Given the description of an element on the screen output the (x, y) to click on. 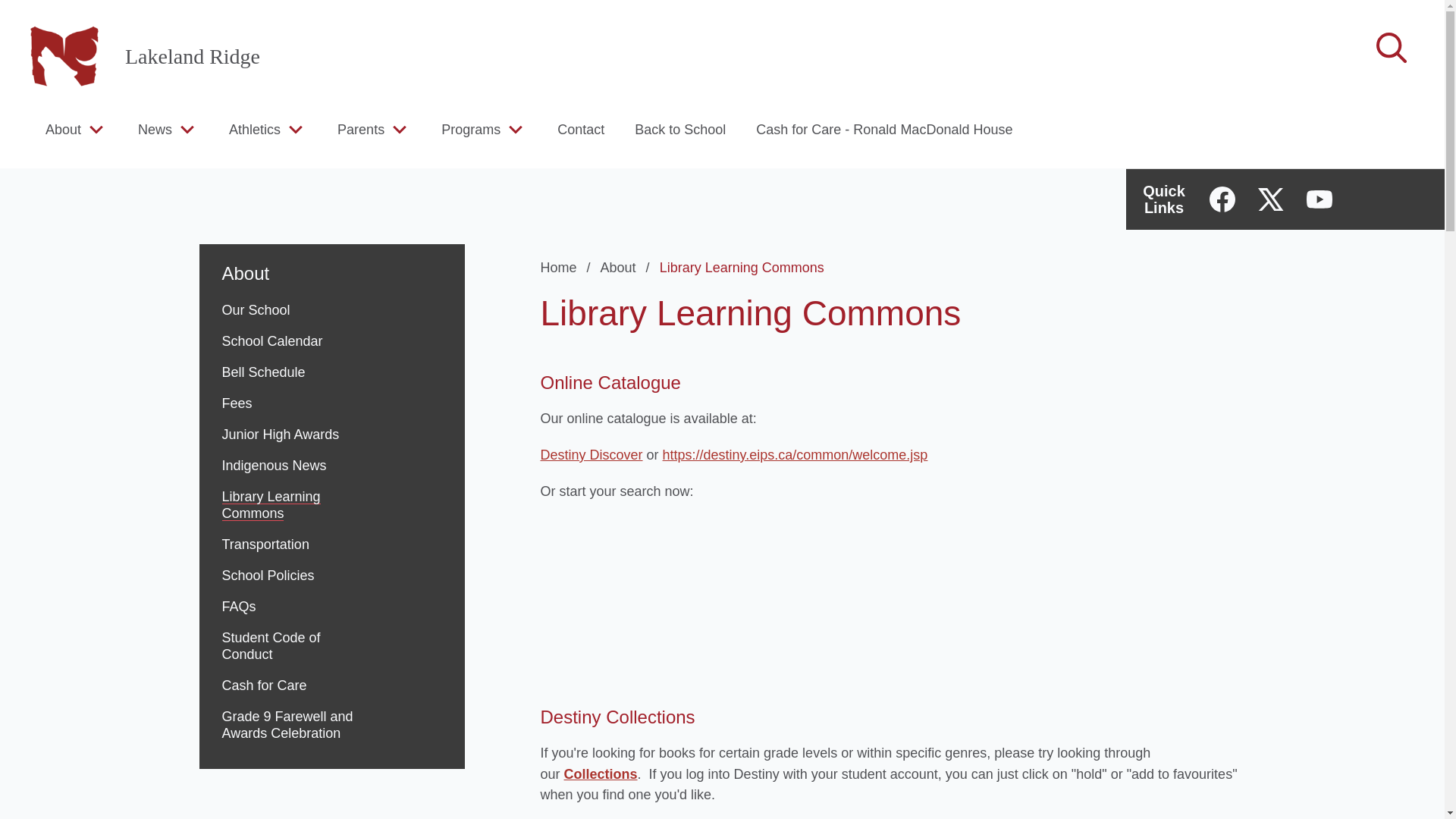
Quick Links (1163, 199)
About (627, 267)
Athletics (254, 129)
home (64, 56)
Home (567, 267)
About (63, 129)
Lakeland Ridge's YouTube (1319, 199)
Lakeland Ridge's X (1270, 199)
Lakeland Ridge's Facebook (1221, 199)
News (154, 129)
About (331, 264)
